Given the description of an element on the screen output the (x, y) to click on. 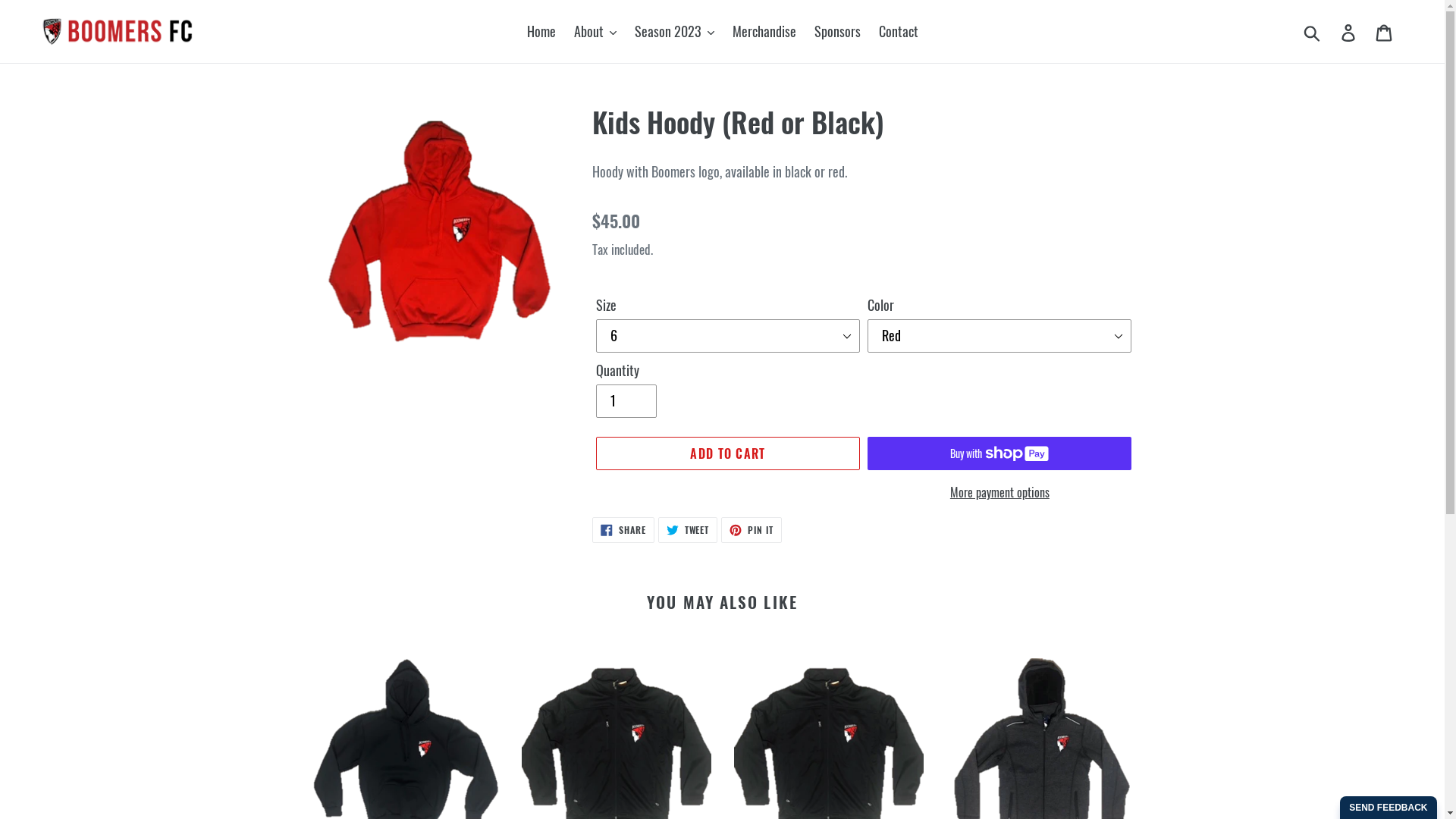
Log in Element type: text (1349, 31)
TWEET
TWEET ON TWITTER Element type: text (688, 529)
PIN IT
PIN ON PINTEREST Element type: text (751, 529)
Submit Element type: text (1312, 30)
ADD TO CART Element type: text (727, 453)
Merchandise Element type: text (763, 30)
More payment options Element type: text (999, 492)
SHARE
SHARE ON FACEBOOK Element type: text (623, 529)
Sponsors Element type: text (837, 30)
Contact Element type: text (897, 30)
Cart Element type: text (1384, 31)
Home Element type: text (540, 30)
